Given the description of an element on the screen output the (x, y) to click on. 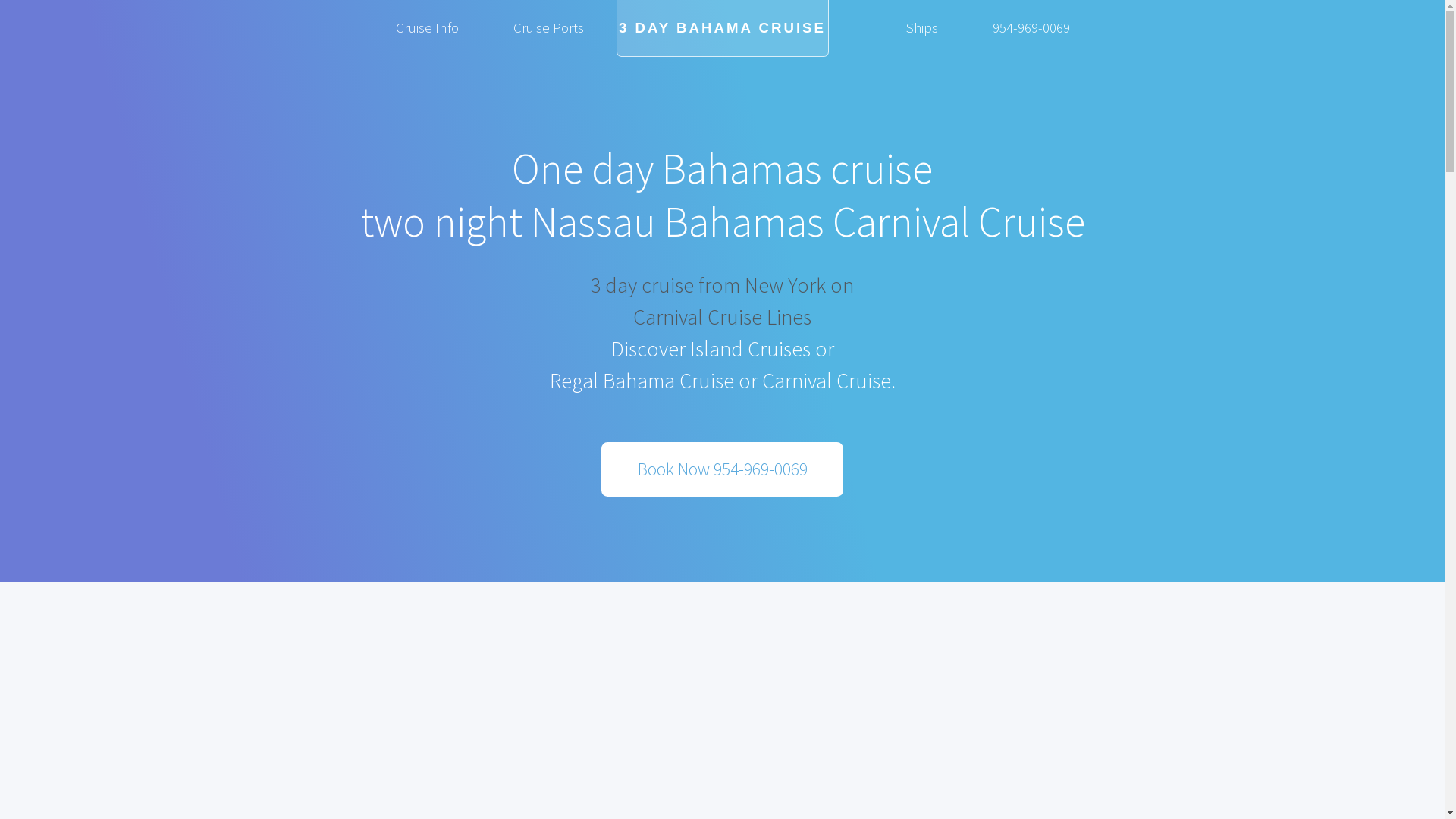
954-969-0069 Element type: text (1030, 26)
Ships Element type: text (922, 26)
Cruise Info Element type: text (427, 26)
Book Now 954-969-0069 Element type: text (722, 469)
3 DAY BAHAMA CRUISE Element type: text (721, 28)
Cruise Ports Element type: text (548, 26)
